Given the description of an element on the screen output the (x, y) to click on. 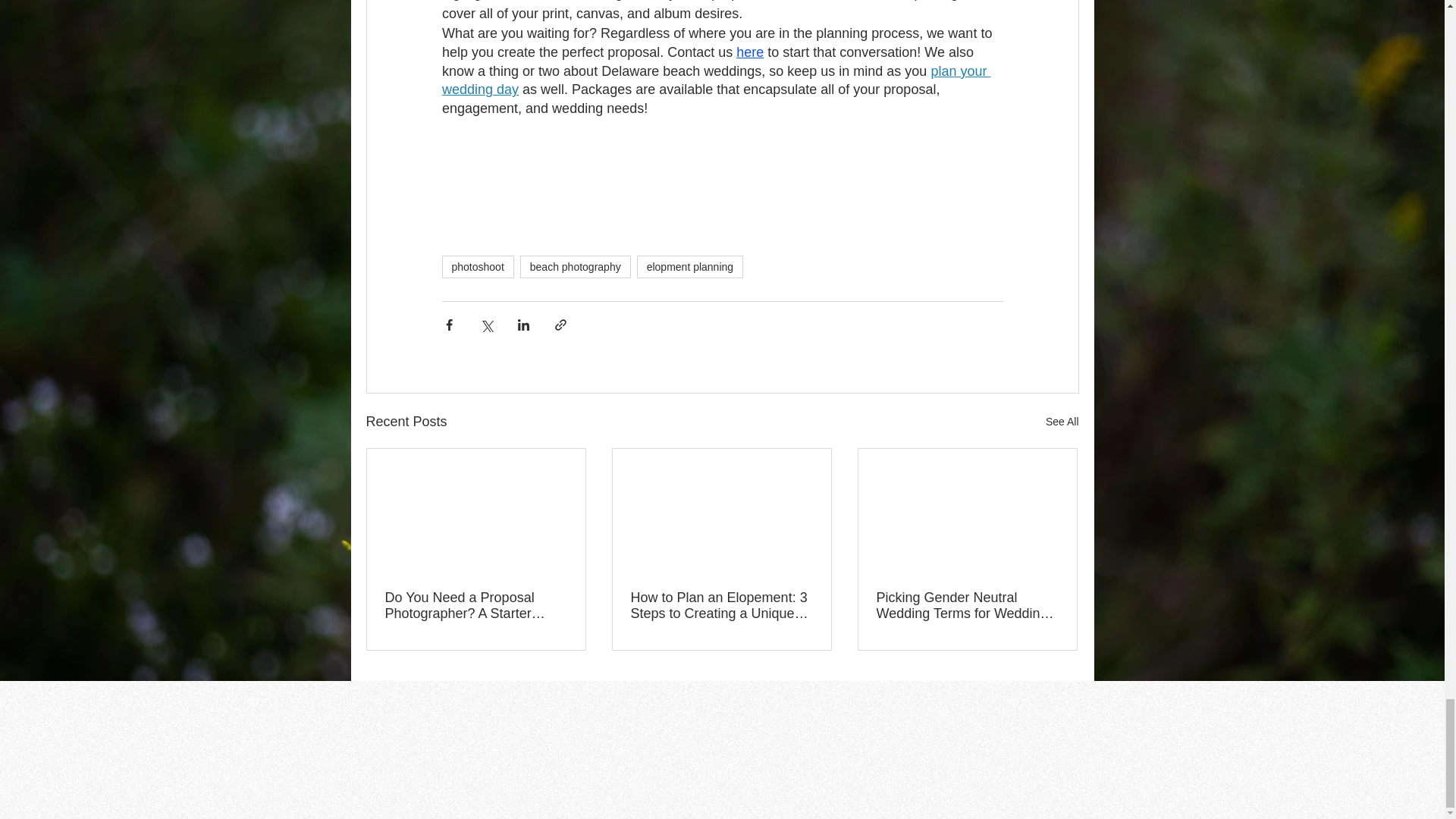
photoshoot (477, 266)
beach photography (574, 266)
here (749, 52)
elopment planning (689, 266)
plan your wedding day (715, 80)
See All (1061, 422)
